Given the description of an element on the screen output the (x, y) to click on. 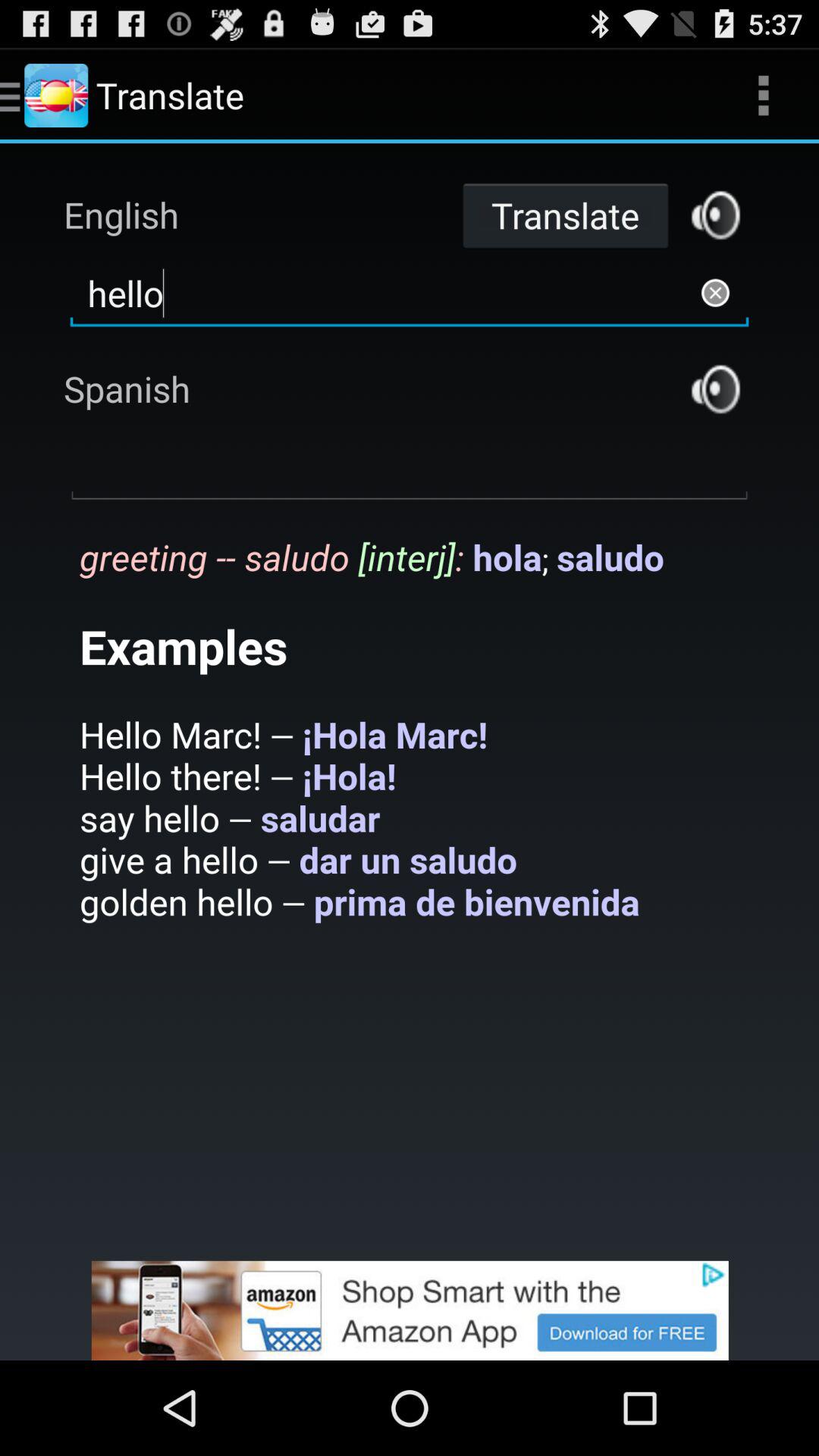
open dropdown box (409, 467)
